Given the description of an element on the screen output the (x, y) to click on. 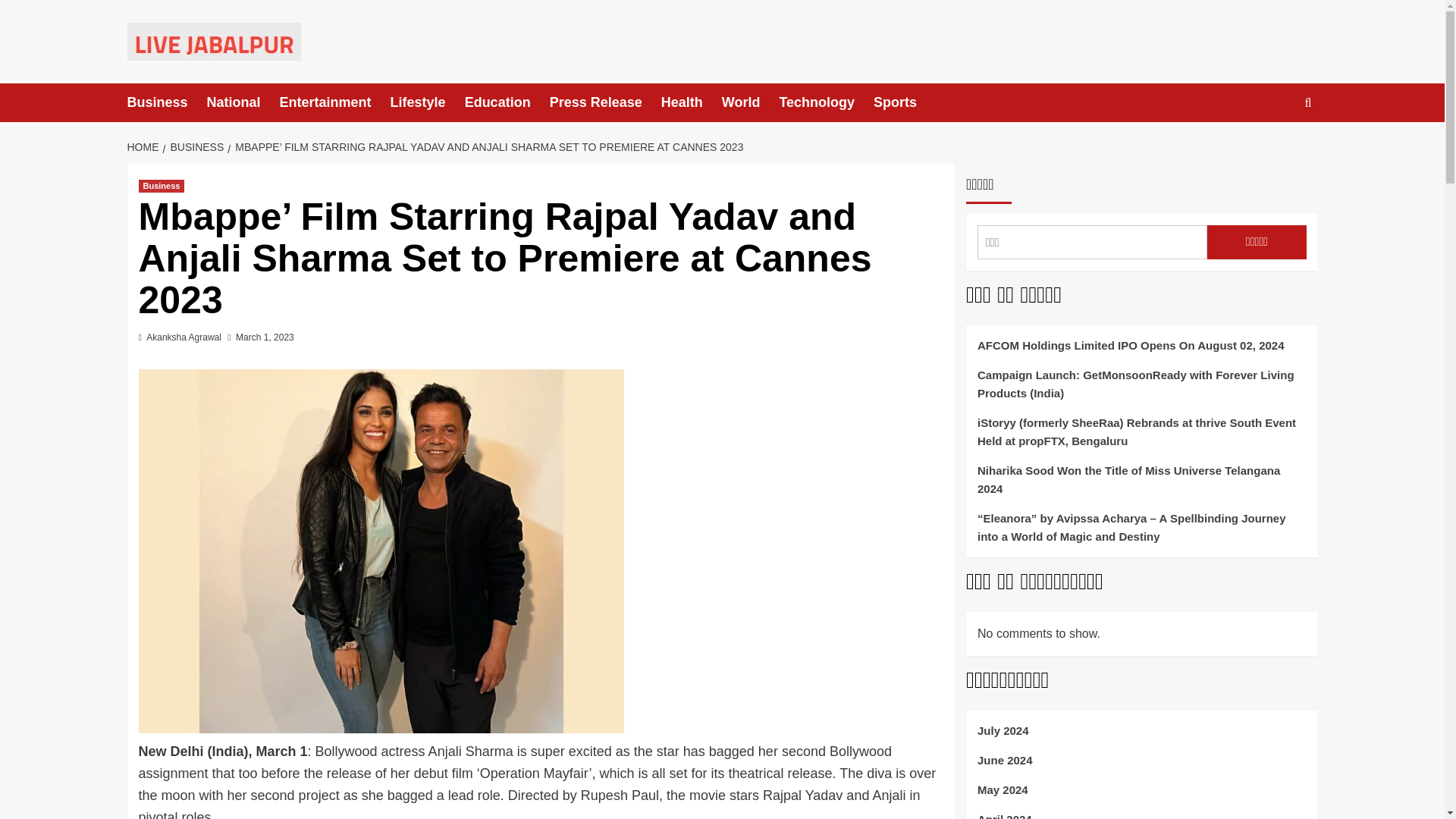
Technology (825, 102)
Business (167, 102)
Sports (904, 102)
BUSINESS (194, 146)
World (750, 102)
Lifestyle (427, 102)
Entertainment (334, 102)
Press Release (605, 102)
March 1, 2023 (264, 337)
Health (691, 102)
Education (507, 102)
Search (1272, 148)
Akanksha Agrawal (184, 337)
Business (161, 185)
National (242, 102)
